Given the description of an element on the screen output the (x, y) to click on. 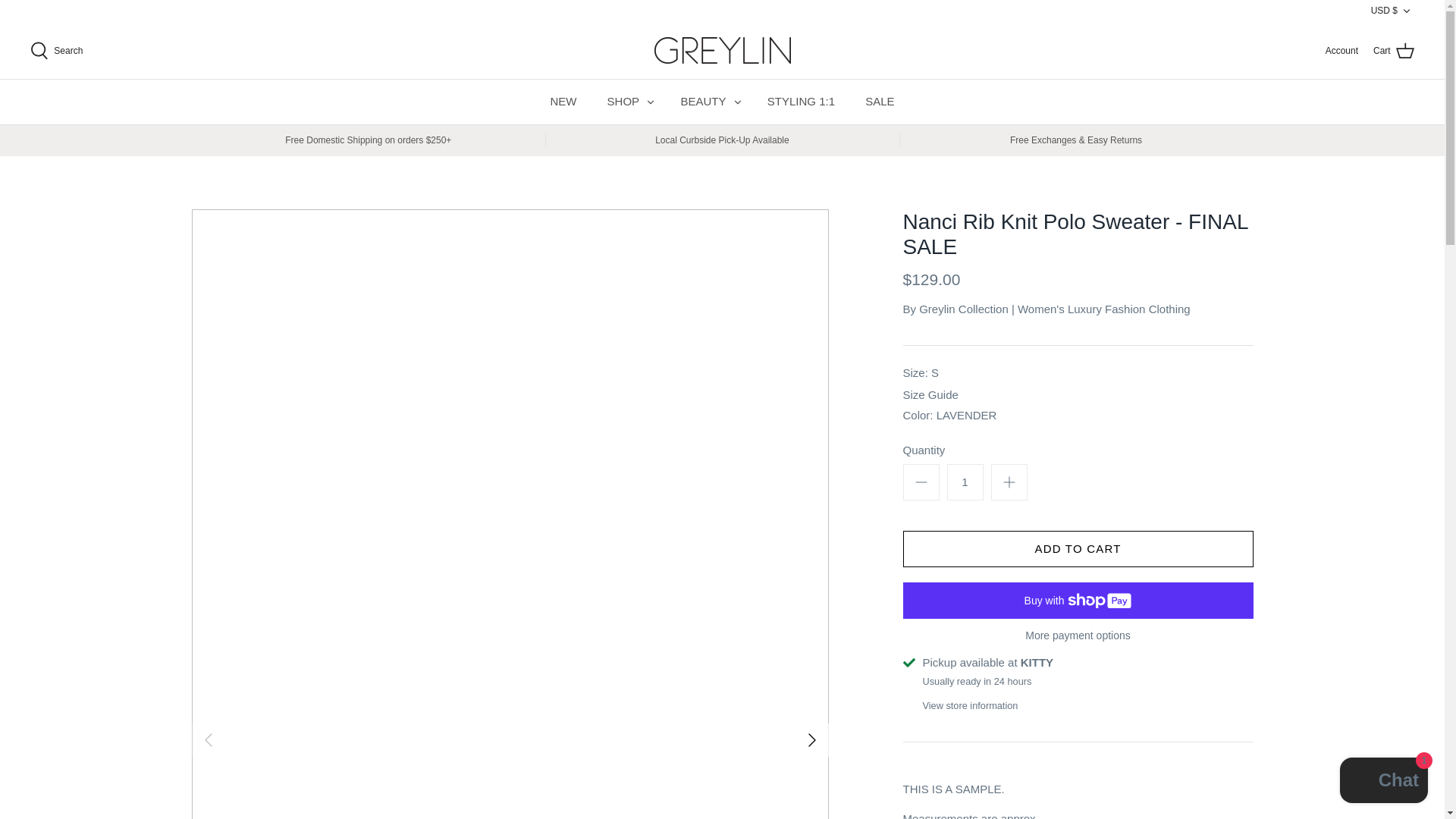
LEFT (207, 740)
Shopify online store chat (1383, 781)
Add to Cart (1077, 548)
Toggle menu (737, 102)
Plus (1007, 482)
1 (964, 482)
Down (1406, 10)
Toggle menu (650, 102)
Minus (920, 482)
RIGHT (811, 740)
